Given the description of an element on the screen output the (x, y) to click on. 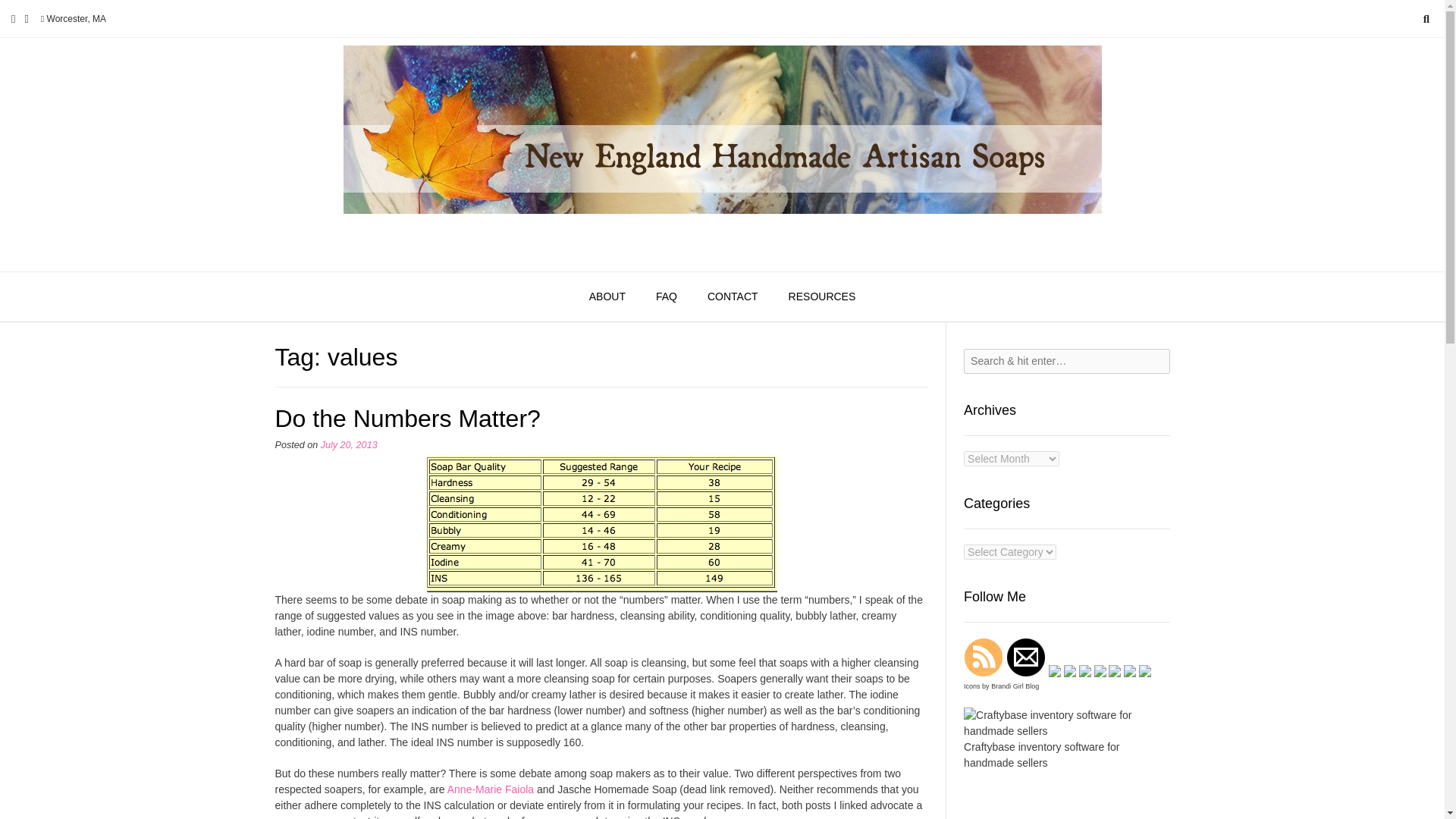
ABOUT (606, 296)
July 20, 2013 (348, 444)
INS Numbers for Soapmaking (490, 788)
Send Us an Email (12, 19)
Anne-Marie Faiola (490, 788)
FAQ (666, 296)
CONTACT (733, 296)
Do the Numbers Matter? (407, 418)
Follow Us on Twitter (25, 19)
Craftybase inventory software for handmade sellers (1066, 730)
RESOURCES (821, 296)
